Given the description of an element on the screen output the (x, y) to click on. 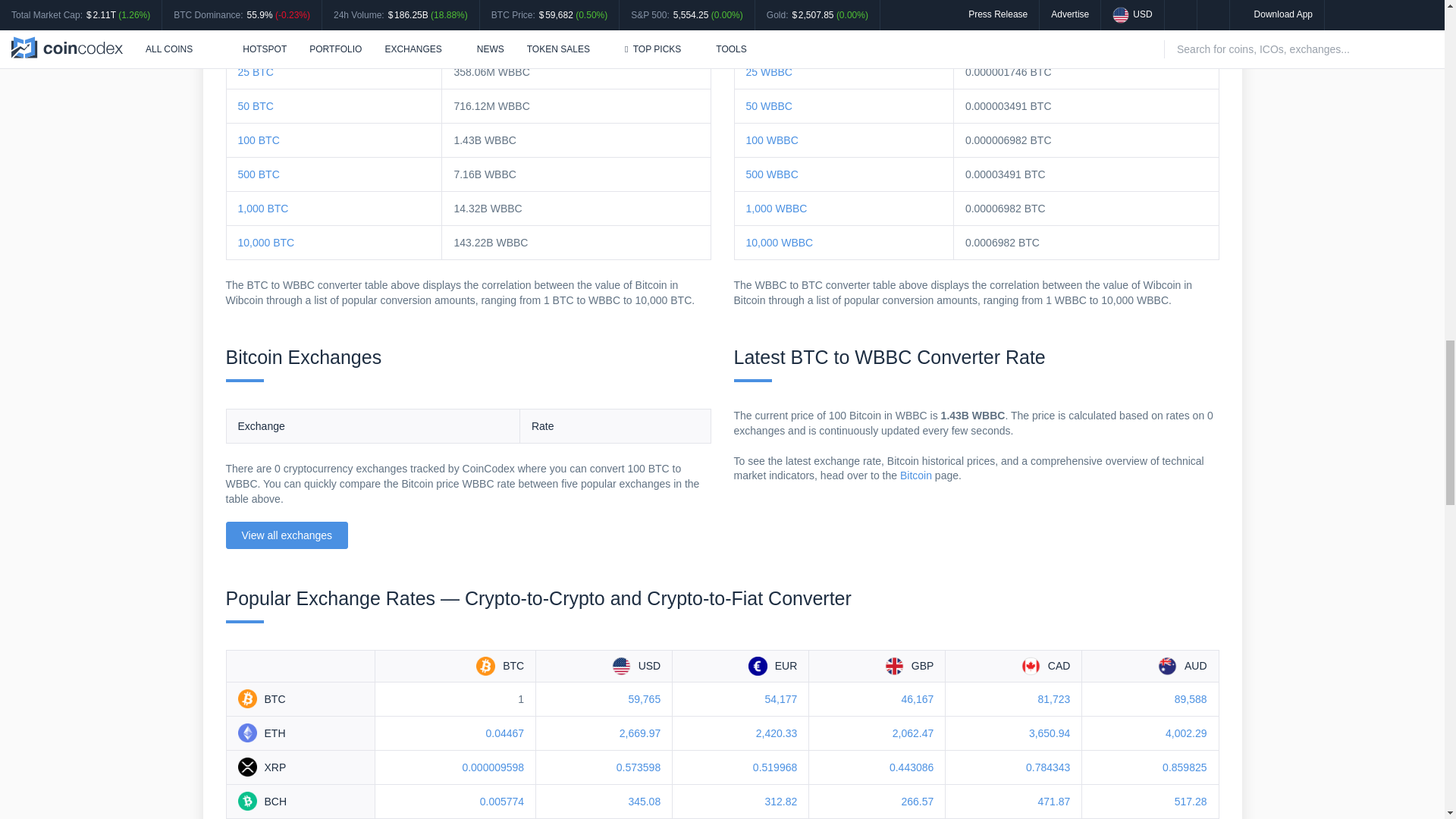
50 WBBC (768, 105)
500 WBBC (771, 174)
10,000 BTC (266, 242)
10 WBBC (768, 37)
500 BTC (258, 174)
25 WBBC (768, 71)
5 BTC (252, 4)
50 BTC (255, 105)
10 BTC (255, 37)
5 WBBC (766, 4)
